Given the description of an element on the screen output the (x, y) to click on. 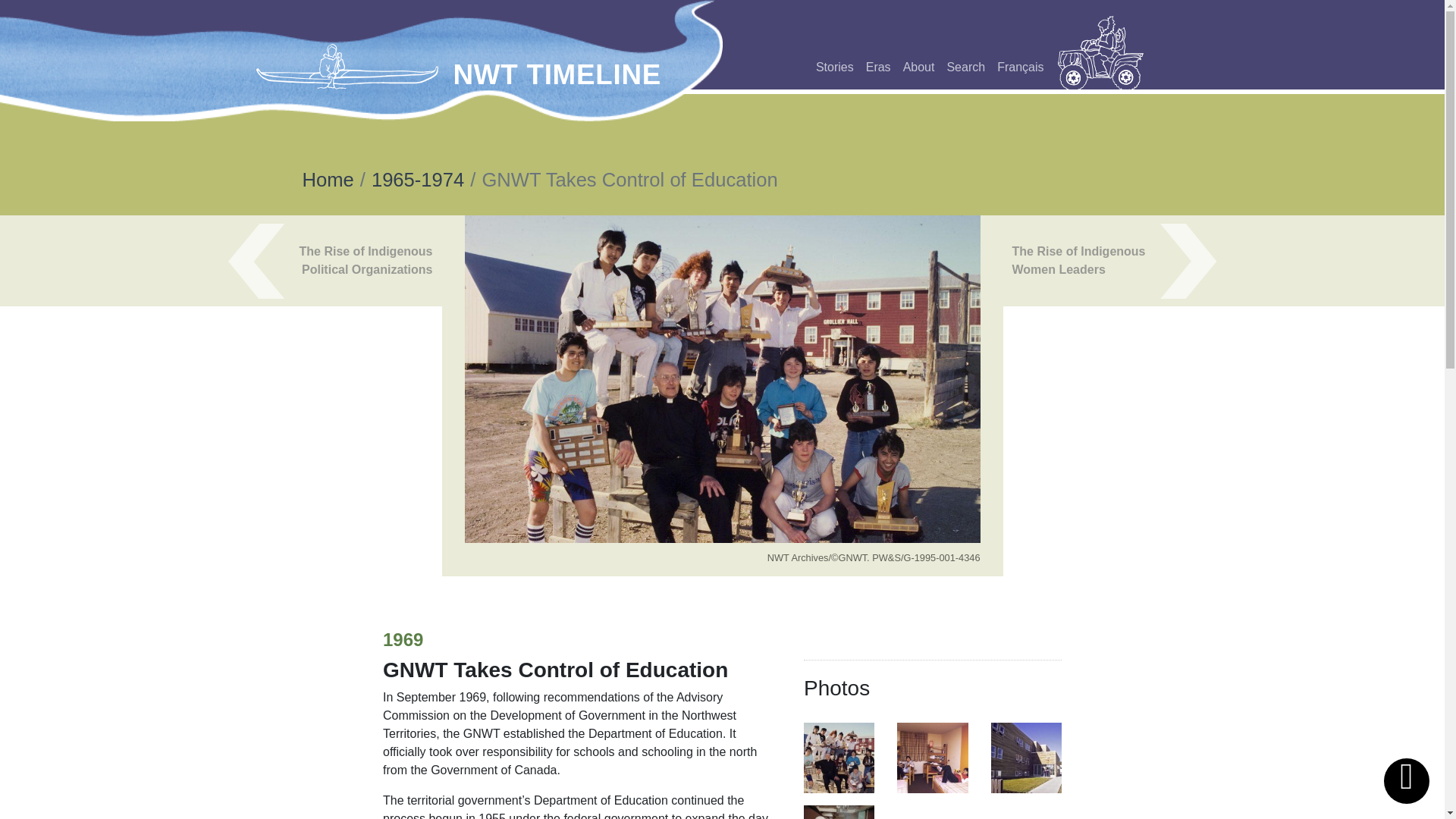
Stories (834, 67)
Eras (878, 67)
Stories (834, 67)
About (918, 67)
Search (965, 67)
Search (965, 67)
About (918, 67)
NWT Timeline Home (350, 65)
NWT TIMELINE (557, 74)
Eras (878, 67)
